Given the description of an element on the screen output the (x, y) to click on. 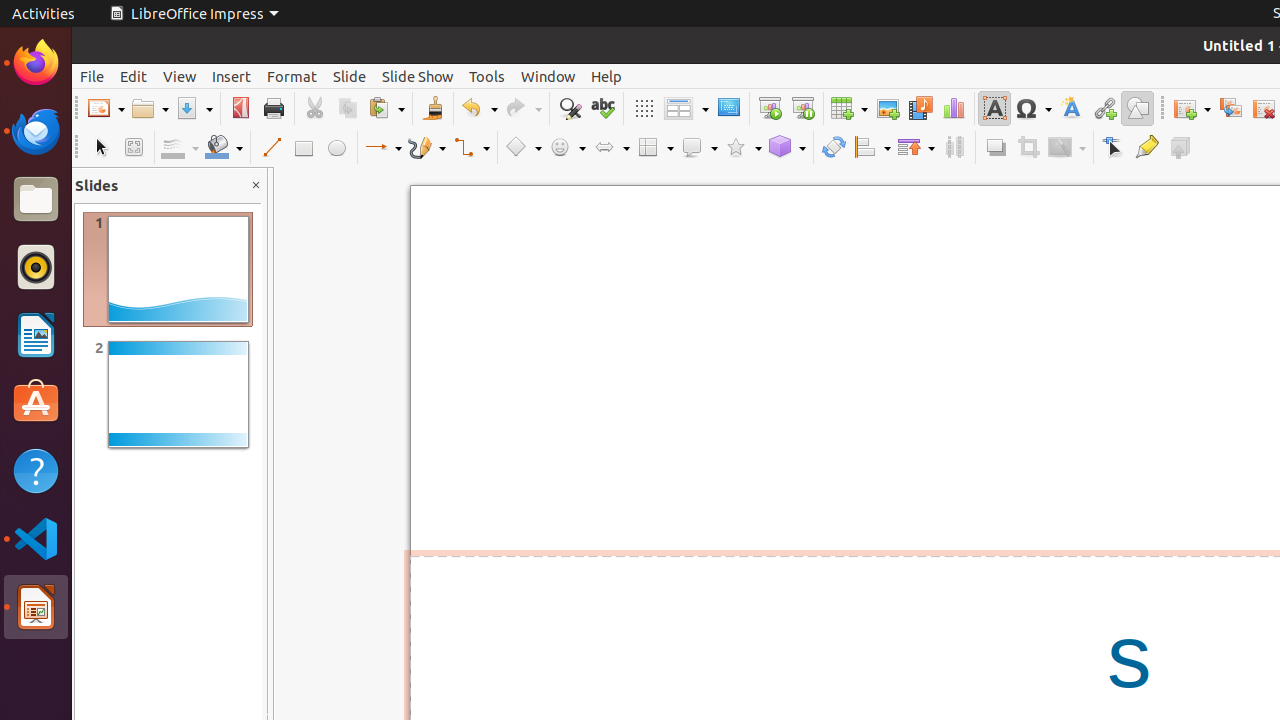
Find & Replace Element type: toggle-button (569, 108)
Delete Slide Element type: push-button (1263, 108)
Toggle Extrusion Element type: push-button (1179, 147)
Fontwork Style Element type: toggle-button (1071, 108)
